Given the description of an element on the screen output the (x, y) to click on. 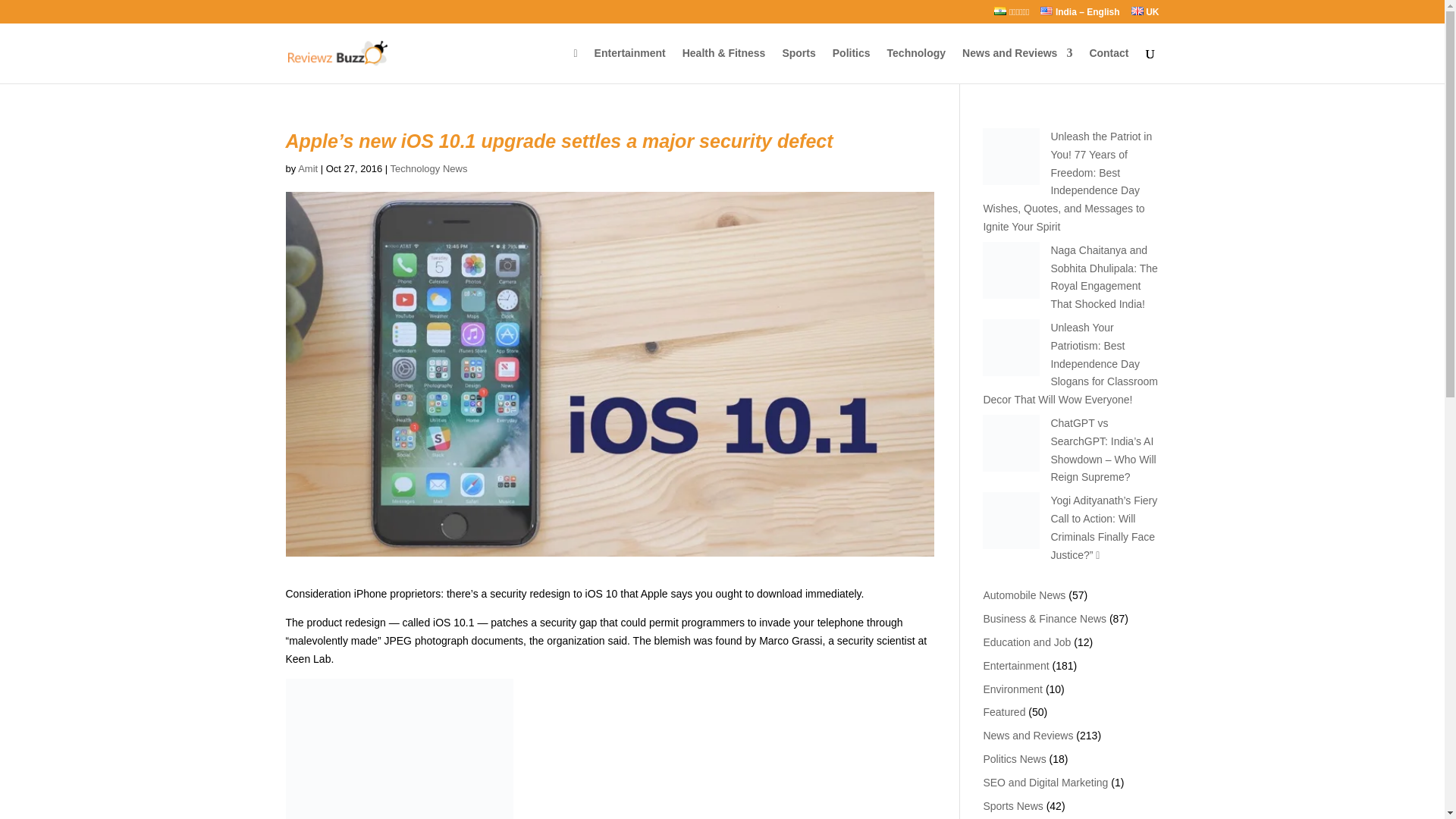
Politics (851, 65)
Entertainment (629, 65)
Sports (798, 65)
Featured (1003, 711)
Sports News (1012, 805)
UK (1144, 14)
Technology (916, 65)
Automobile News (1023, 594)
Politics News (1013, 758)
